Given the description of an element on the screen output the (x, y) to click on. 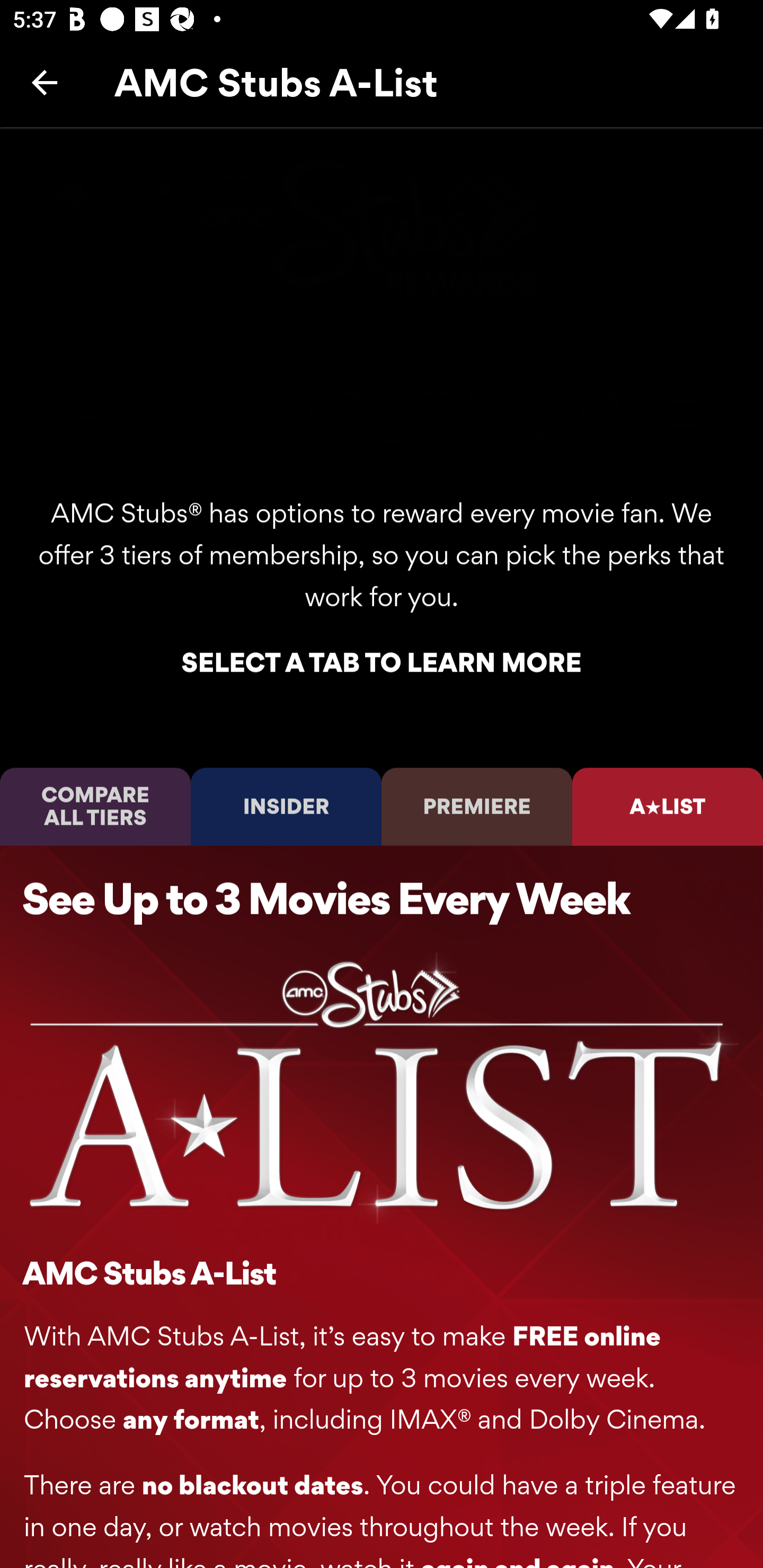
Back (44, 82)
COMPARE ALL TIERS COMPARE ALL TIERS (95, 806)
INSIDER (285, 806)
PREMIERE (476, 806)
A★LIST (667, 806)
